Given the description of an element on the screen output the (x, y) to click on. 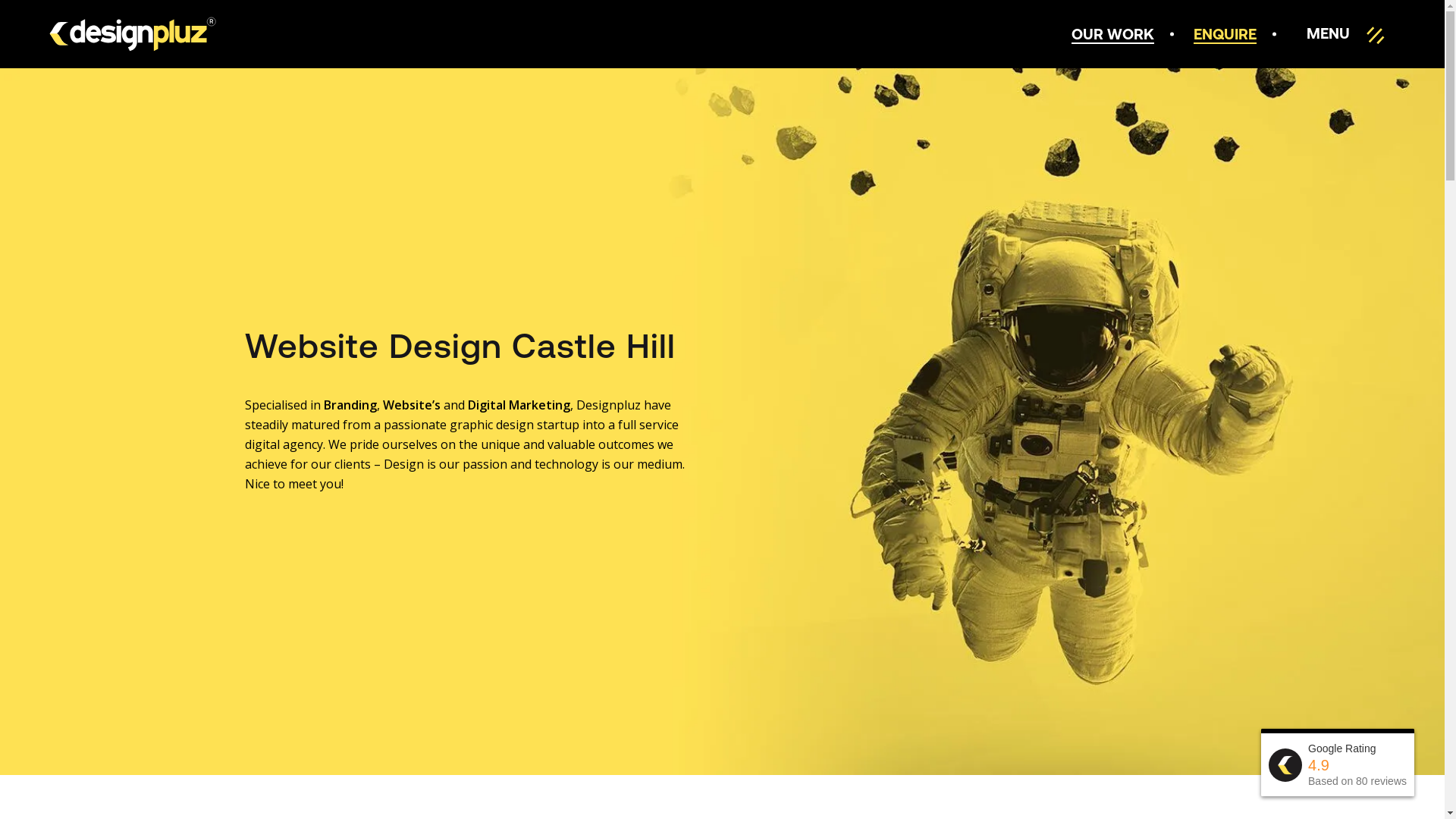
ENQUIRE Element type: text (1224, 34)
Skip to content Element type: text (0, 0)
Designpluz Element type: hover (132, 33)
Google Rating
4.9
Based on 80 reviews Element type: text (1337, 764)
Branding Element type: text (349, 404)
OUR WORK Element type: text (1112, 34)
Digital Marketing Element type: text (518, 404)
